Given the description of an element on the screen output the (x, y) to click on. 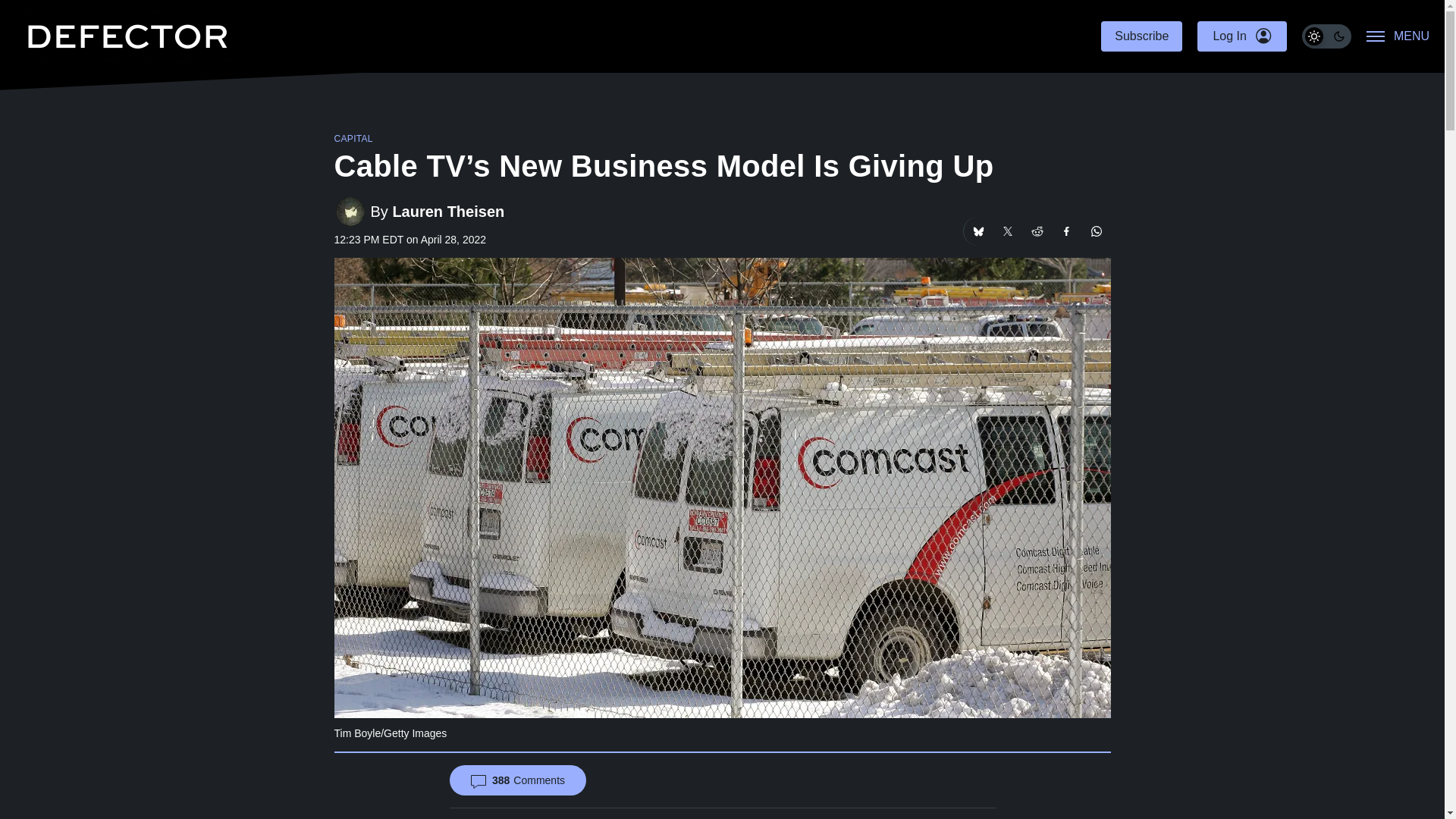
Log In (1240, 36)
Share on Reddit (1036, 231)
Share on Bluesky (976, 231)
Share on Facebook (1066, 231)
MENU (1398, 36)
Lauren Theisen (447, 211)
CAPITAL (352, 138)
Subscribe (1141, 36)
